Given the description of an element on the screen output the (x, y) to click on. 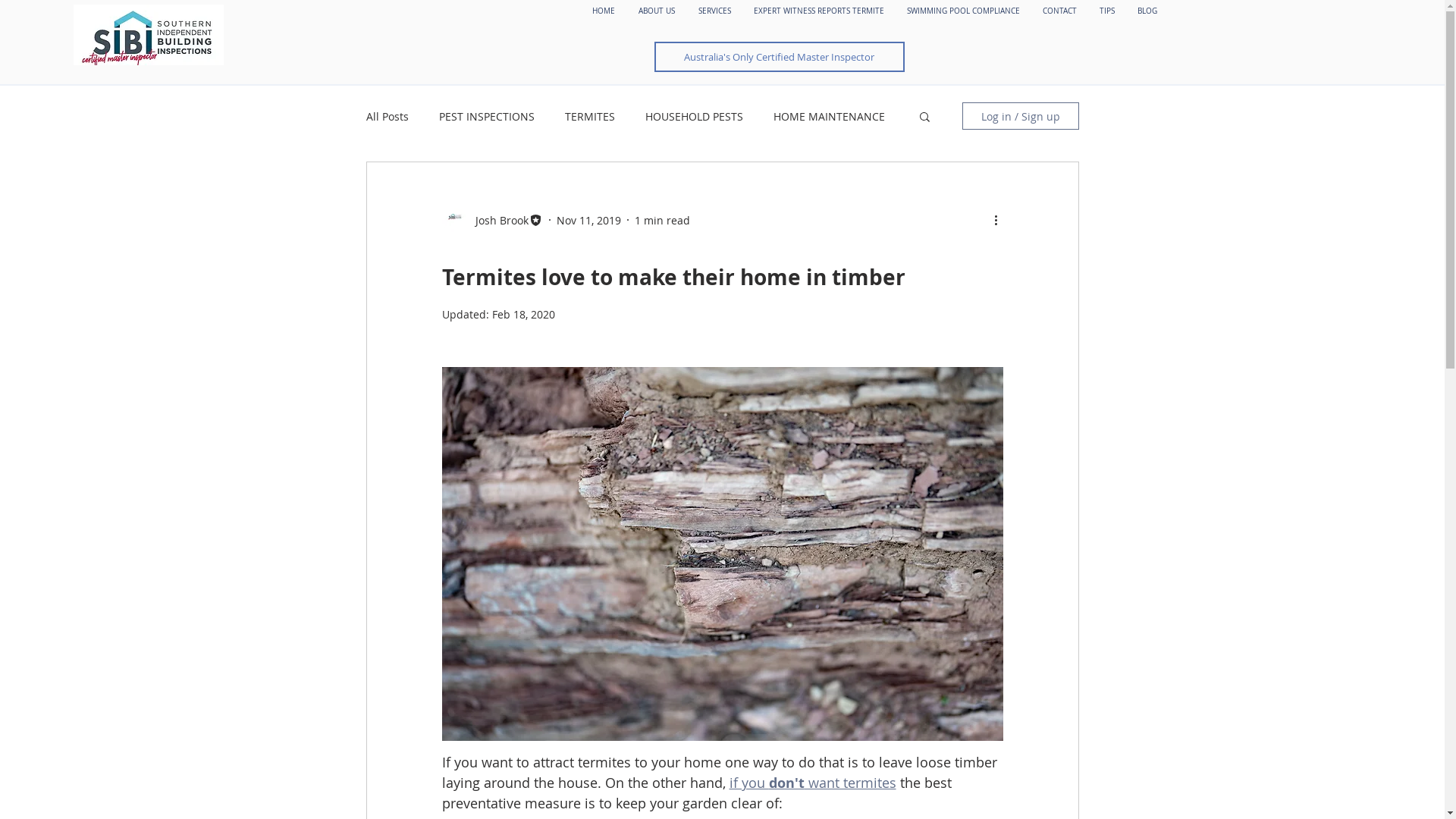
SWIMMING POOL COMPLIANCE Element type: text (963, 11)
TIPS Element type: text (1107, 11)
if you don't want termites Element type: text (812, 782)
CONTACT Element type: text (1059, 11)
HOUSEHOLD PESTS Element type: text (693, 116)
Log in / Sign up Element type: text (1019, 115)
EXPERT WITNESS REPORTS TERMITE Element type: text (818, 11)
All Posts Element type: text (386, 116)
BLOG Element type: text (1147, 11)
PEST INSPECTIONS Element type: text (485, 116)
ABOUT US Element type: text (657, 11)
HOME MAINTENANCE Element type: text (828, 116)
TERMITES Element type: text (589, 116)
SERVICES Element type: text (714, 11)
HOME Element type: text (603, 11)
